Given the description of an element on the screen output the (x, y) to click on. 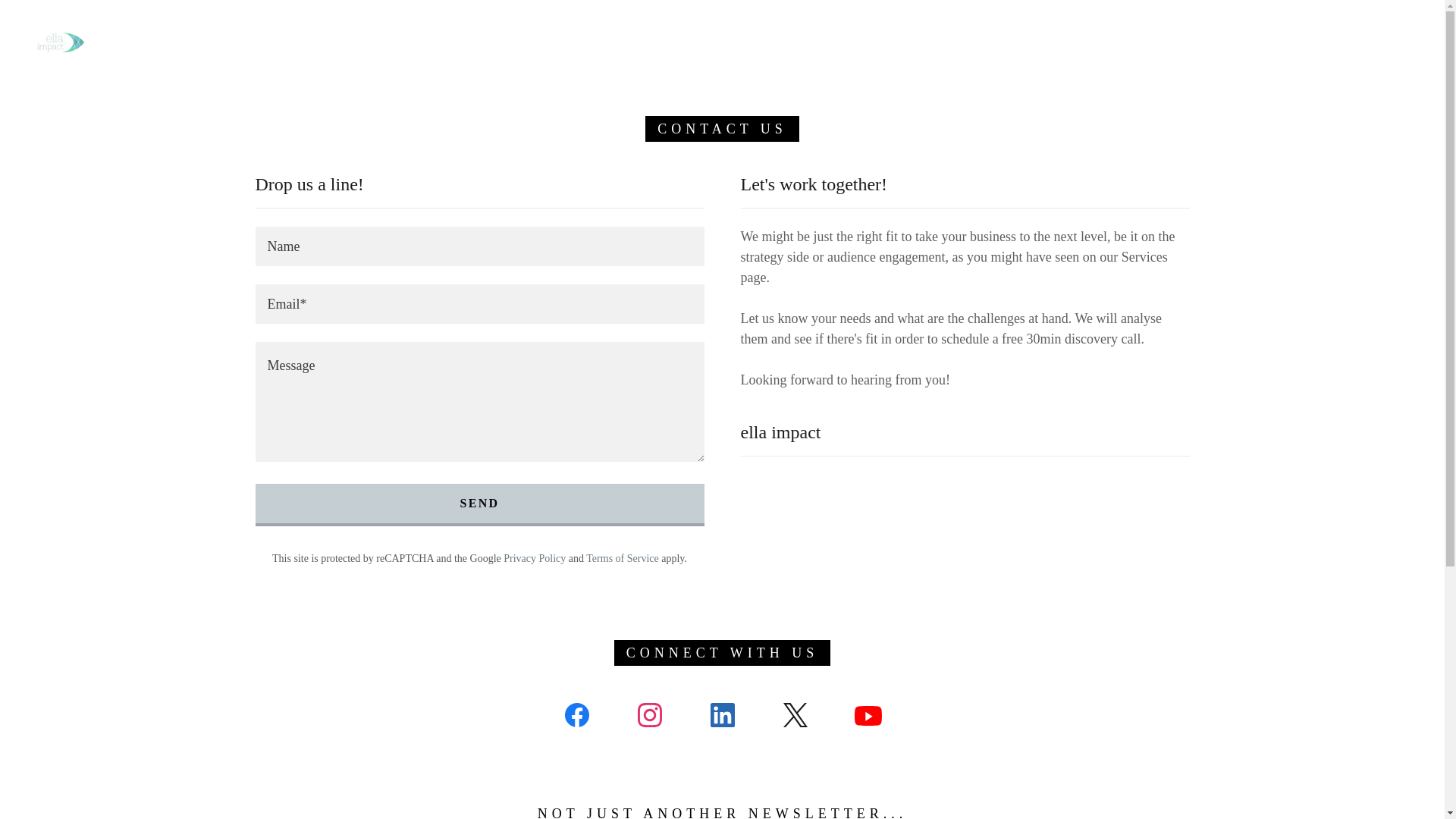
SEND (478, 505)
Terms of Service (622, 558)
Privacy Policy (534, 558)
ella impact - the female impact network (60, 40)
